Given the description of an element on the screen output the (x, y) to click on. 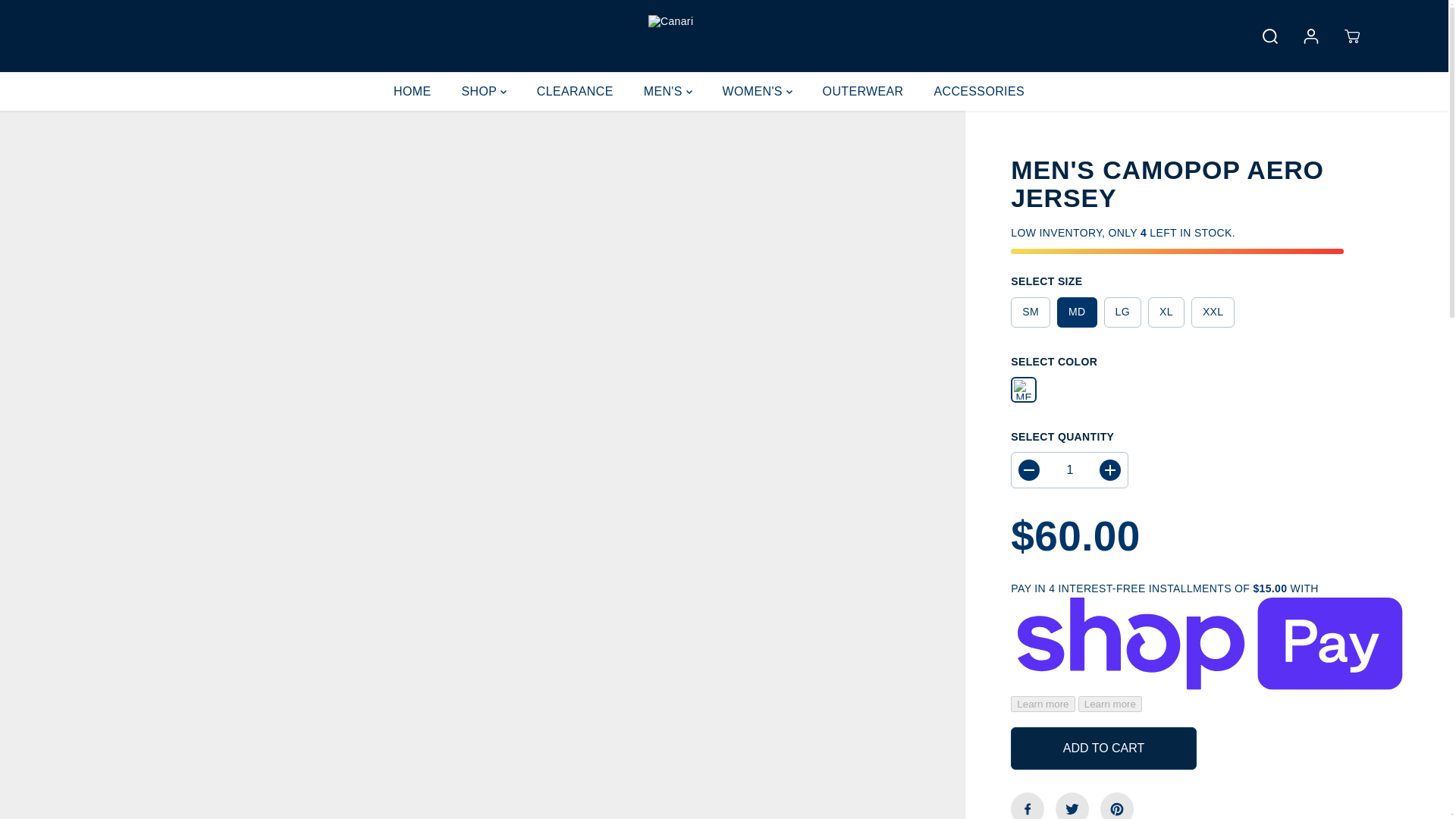
SM (1029, 312)
XXL (1212, 312)
Orange (1023, 389)
MD (1076, 312)
1 (1069, 470)
LG (1122, 312)
Orange (1023, 389)
Search (1270, 36)
Log in (1310, 36)
XL (1166, 312)
SM (1029, 312)
LG (1122, 312)
Pinterest (1117, 805)
Cart (1351, 36)
Twitter (1072, 805)
